Given the description of an element on the screen output the (x, y) to click on. 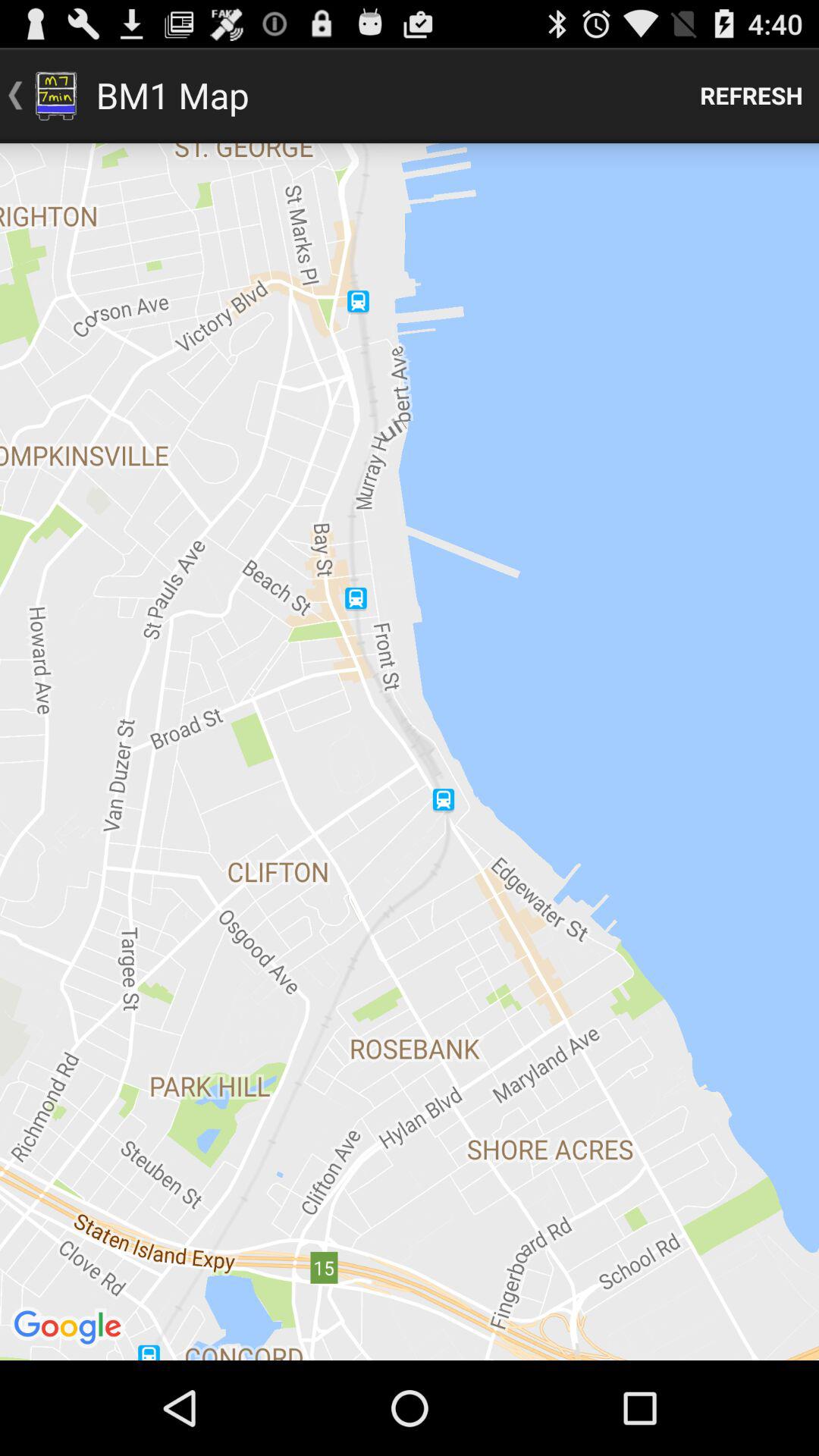
swipe until refresh item (751, 95)
